Given the description of an element on the screen output the (x, y) to click on. 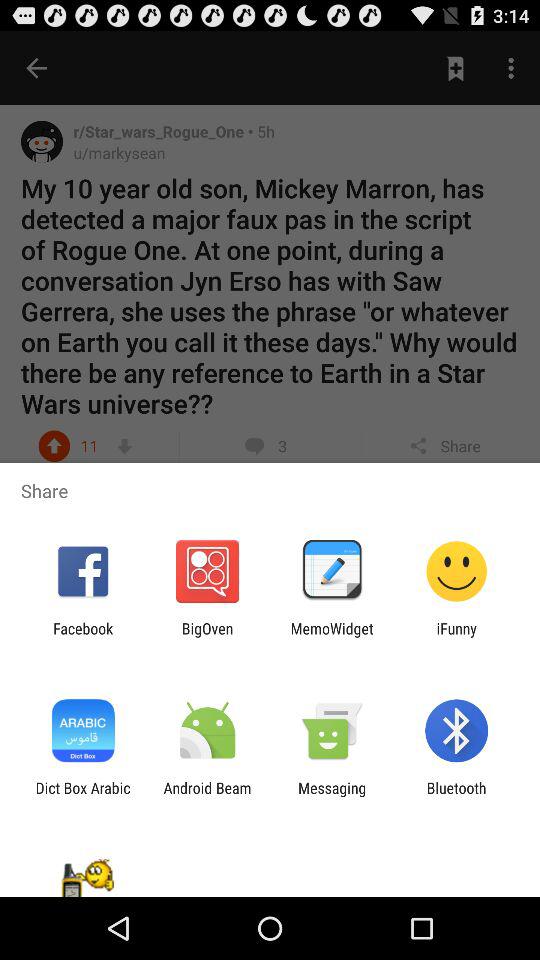
click app to the right of the android beam (332, 796)
